Given the description of an element on the screen output the (x, y) to click on. 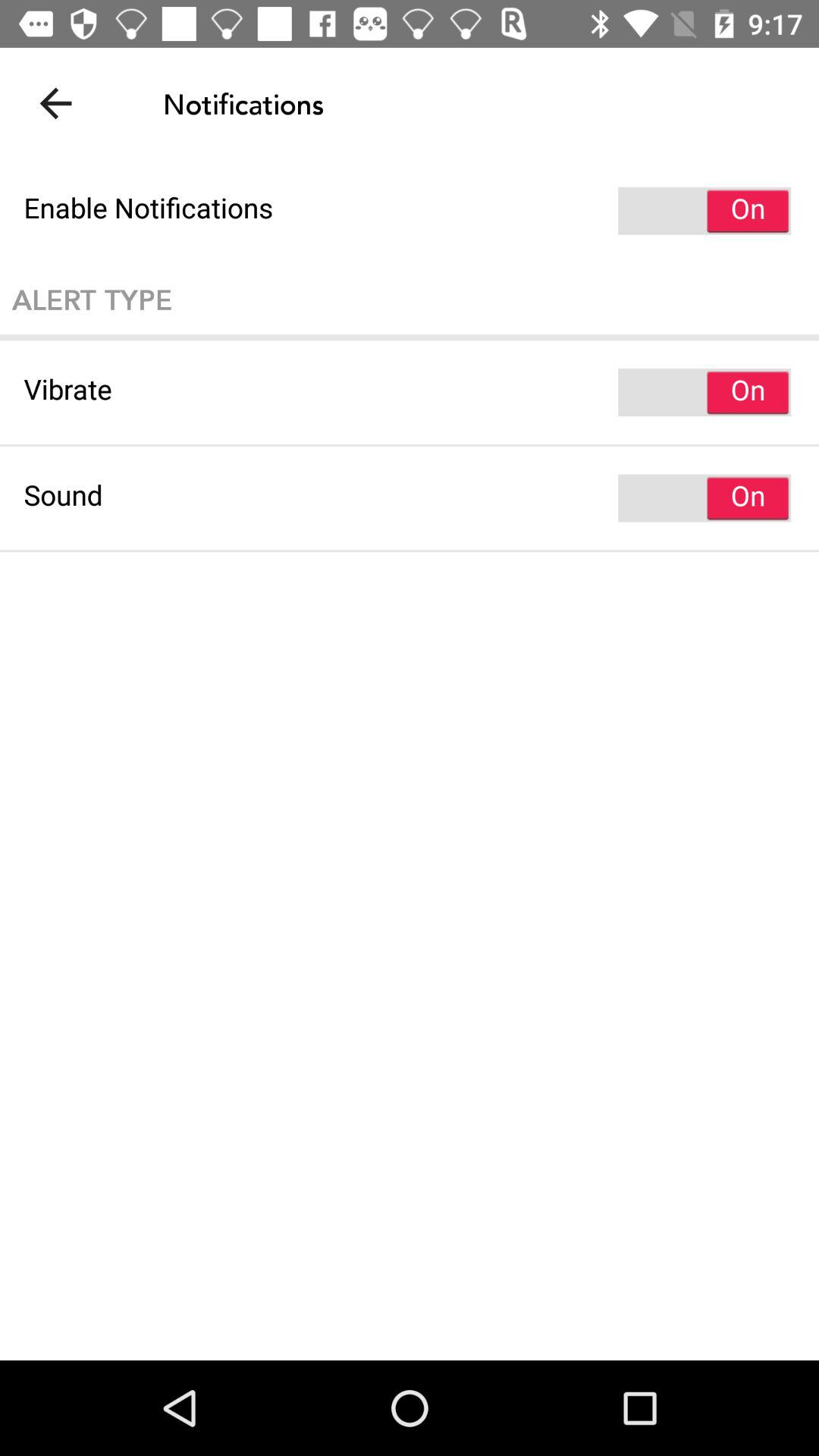
click vibrate (409, 392)
